Given the description of an element on the screen output the (x, y) to click on. 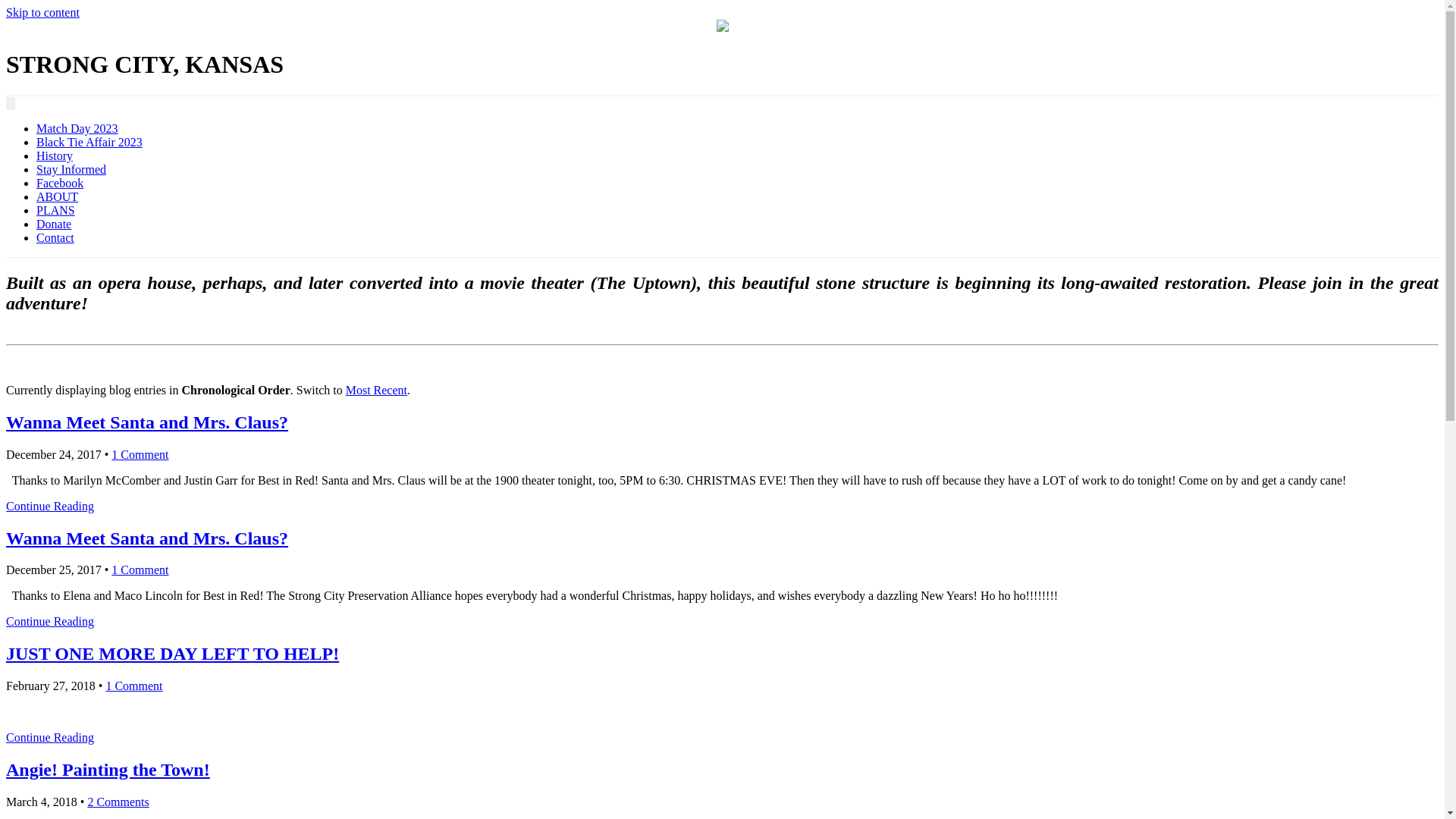
Wanna Meet Santa and Mrs. Claus? Element type: text (147, 537)
JUST ONE MORE DAY LEFT TO HELP! Element type: text (172, 653)
ABOUT Element type: text (57, 196)
Continue Reading Element type: text (50, 505)
Match Day 2023 Element type: text (77, 128)
Wanna Meet Santa and Mrs. Claus? Element type: text (147, 422)
Facebook Element type: text (59, 182)
Contact Element type: text (55, 237)
Donate Element type: text (53, 223)
1 Comment Element type: text (139, 569)
1 Comment Element type: text (133, 685)
Continue Reading Element type: text (50, 621)
Skip to content Element type: text (42, 12)
Most Recent Element type: text (376, 389)
2 Comments Element type: text (117, 801)
Angie! Painting the Town! Element type: text (108, 769)
Black Tie Affair 2023 Element type: text (89, 141)
History Element type: text (54, 155)
Continue Reading Element type: text (50, 737)
1 Comment Element type: text (139, 454)
Stay Informed Element type: text (71, 169)
PLANS Element type: text (55, 209)
